Given the description of an element on the screen output the (x, y) to click on. 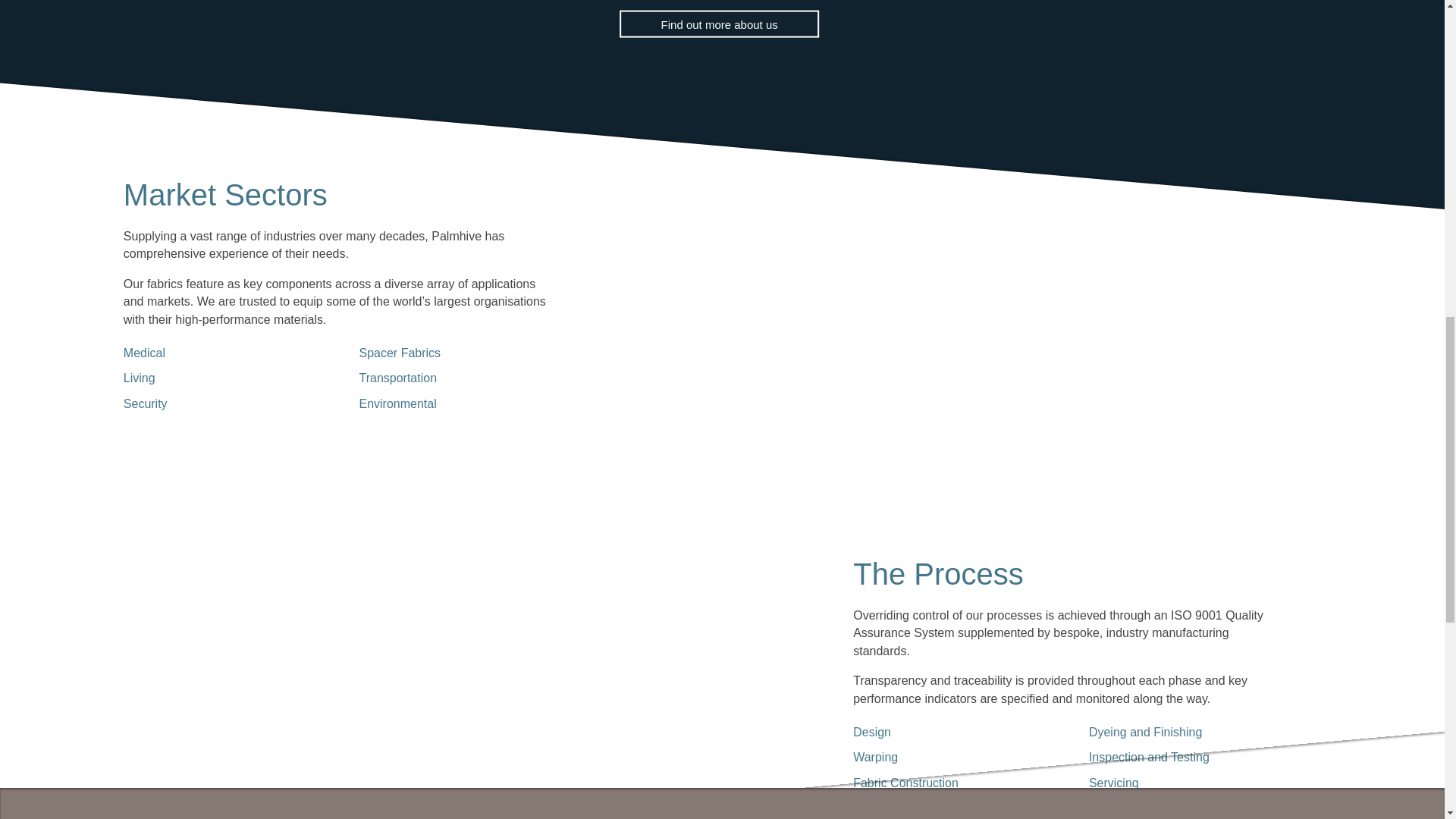
Dyeing and Finishing (1184, 731)
Environmental (453, 402)
Find out more about us (719, 22)
Servicing (1184, 781)
Warping (948, 756)
Design (948, 731)
Security (218, 402)
Medical (218, 352)
Transportation (453, 377)
Inspection and Testing (1184, 756)
